Given the description of an element on the screen output the (x, y) to click on. 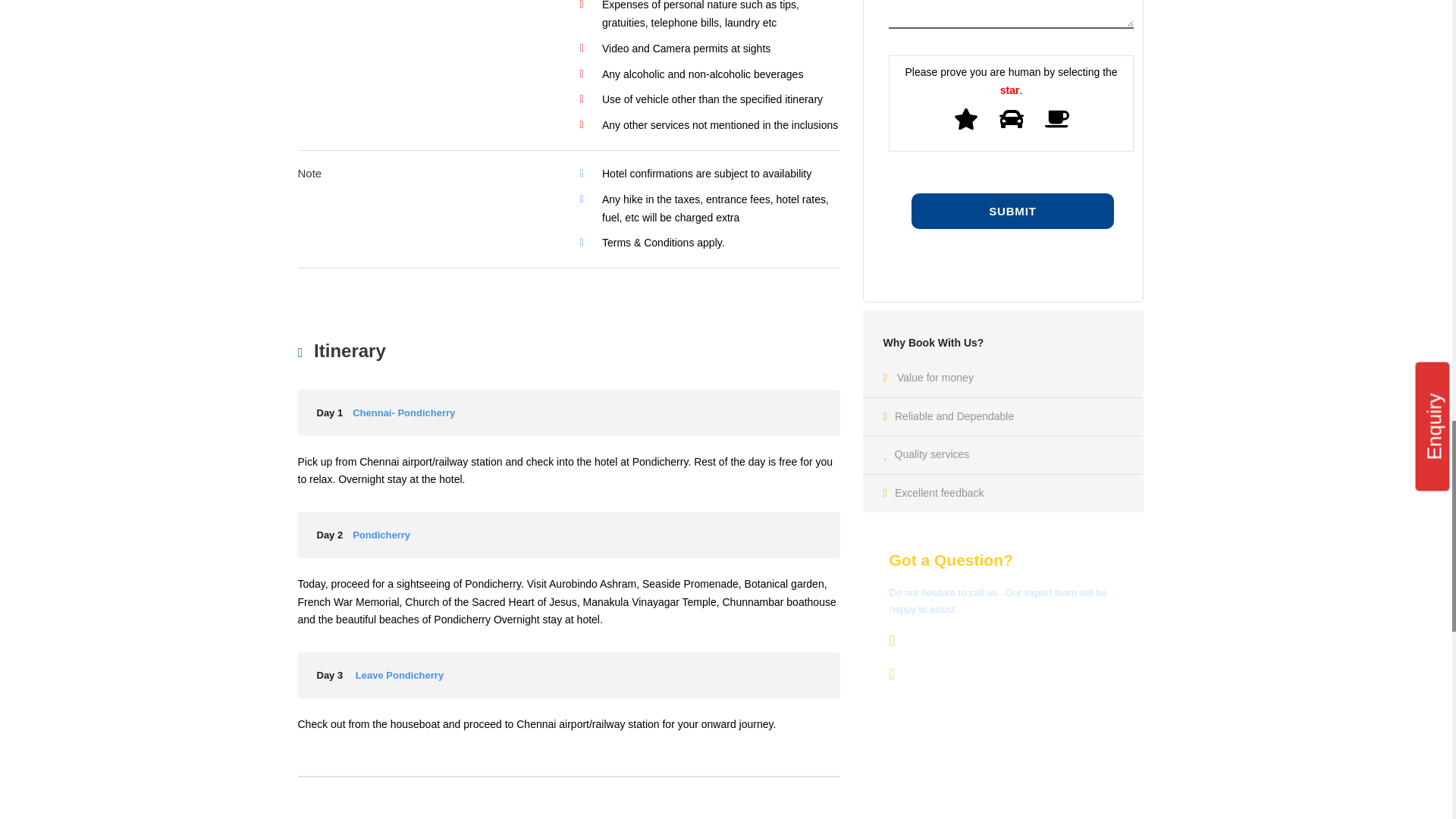
Submit (1012, 211)
